Given the description of an element on the screen output the (x, y) to click on. 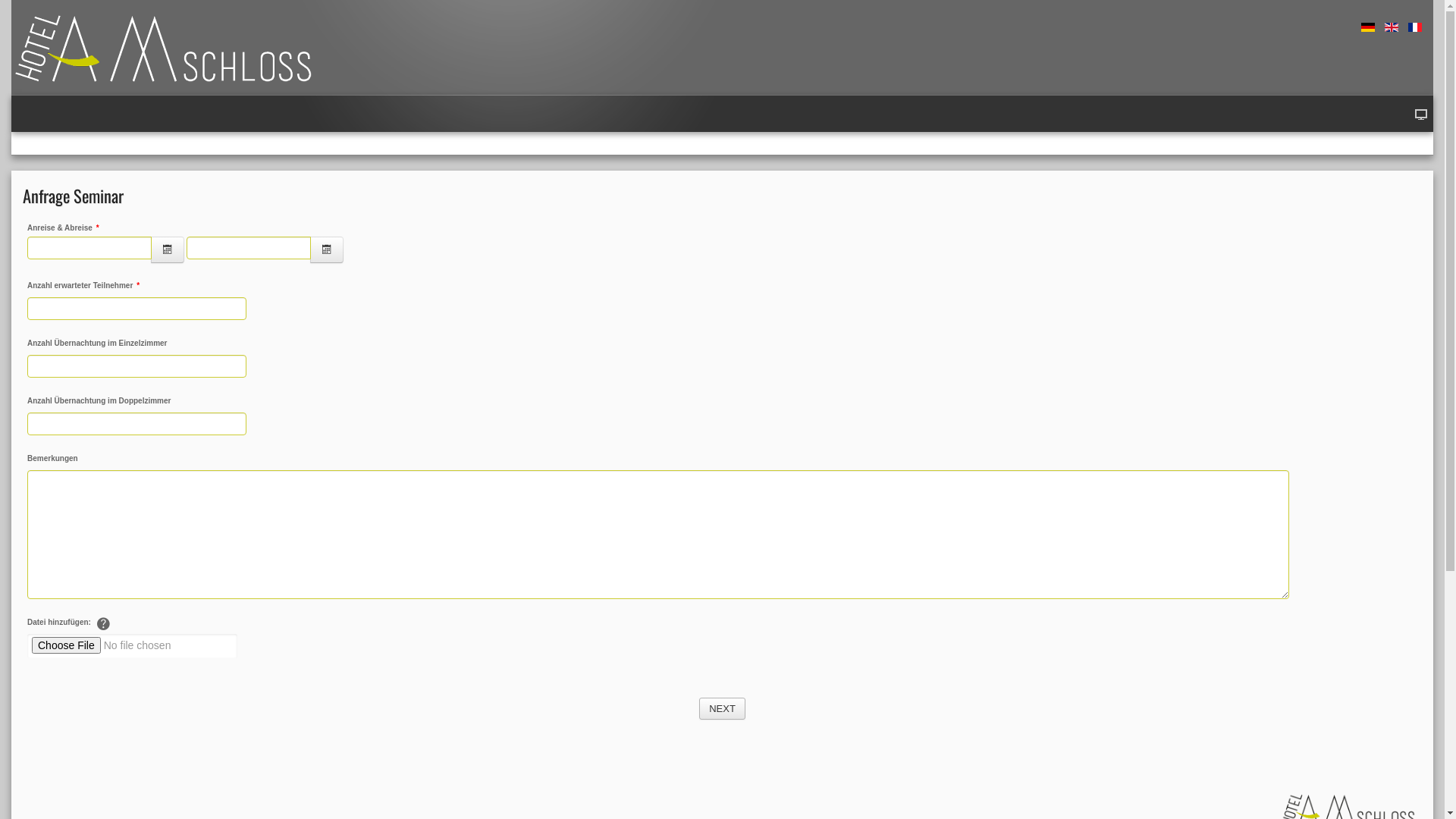
NEXT Element type: text (722, 708)
english Element type: hover (1391, 26)
deutsch Element type: hover (1367, 26)
 francais Element type: hover (1414, 26)
